Given the description of an element on the screen output the (x, y) to click on. 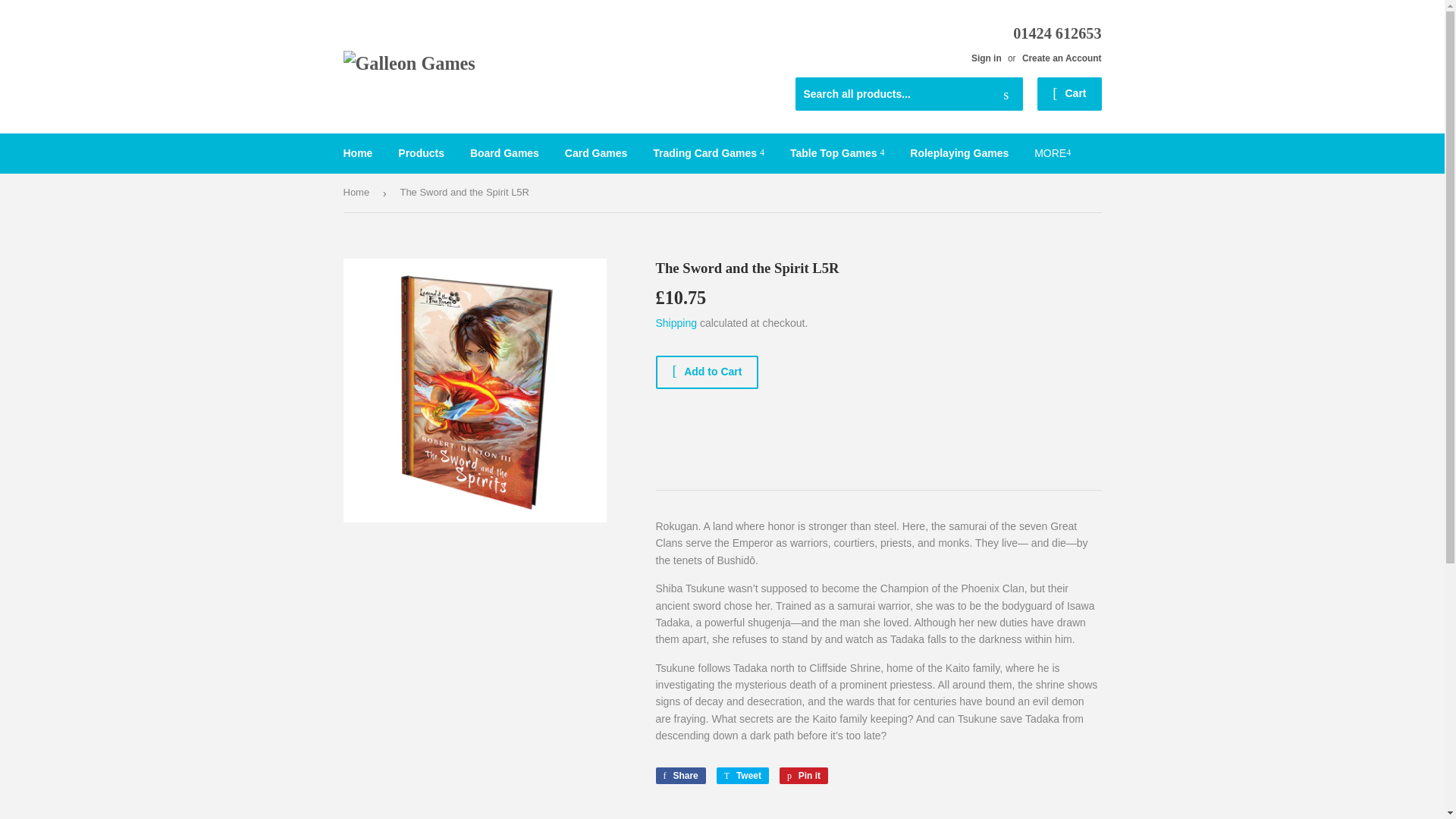
Pin on Pinterest (803, 775)
Create an Account (1062, 58)
Search (1005, 94)
Share on Facebook (679, 775)
Sign in (986, 58)
Back to the frontpage (358, 192)
Tweet on Twitter (742, 775)
Cart (1068, 93)
